Given the description of an element on the screen output the (x, y) to click on. 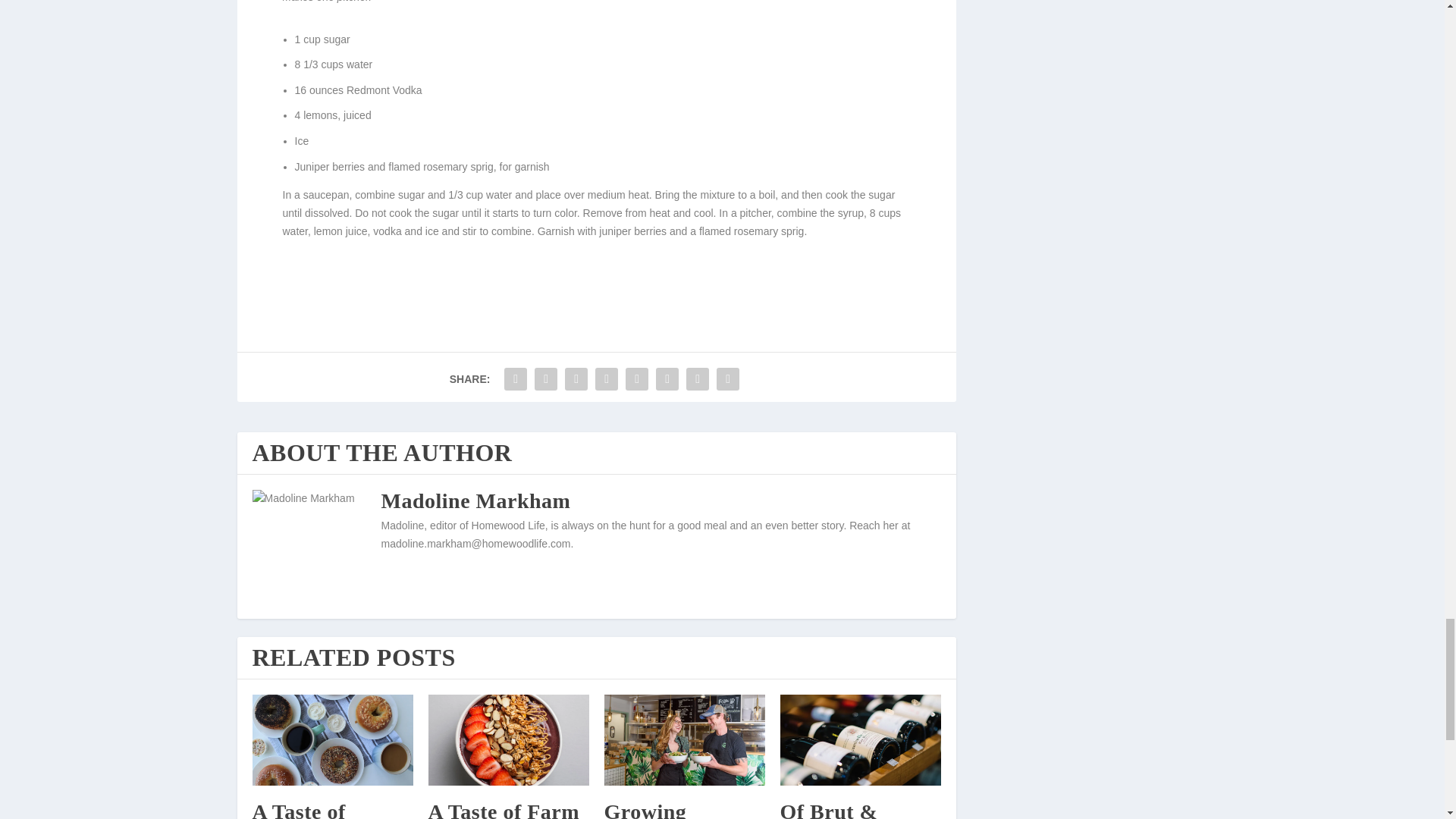
View all posts by Madoline Markham (475, 500)
Share "The Story of a Still" via Twitter (545, 378)
Share "The Story of a Still" via LinkedIn (667, 378)
Share "The Story of a Still" via Facebook (515, 378)
Growing Greenhouse (684, 739)
Share "The Story of a Still" via Email (697, 378)
A Taste of Homewood Bagel Company (331, 739)
Share "The Story of a Still" via Pinterest (636, 378)
Share "The Story of a Still" via Print (727, 378)
Share "The Story of a Still" via Tumblr (606, 378)
